Given the description of an element on the screen output the (x, y) to click on. 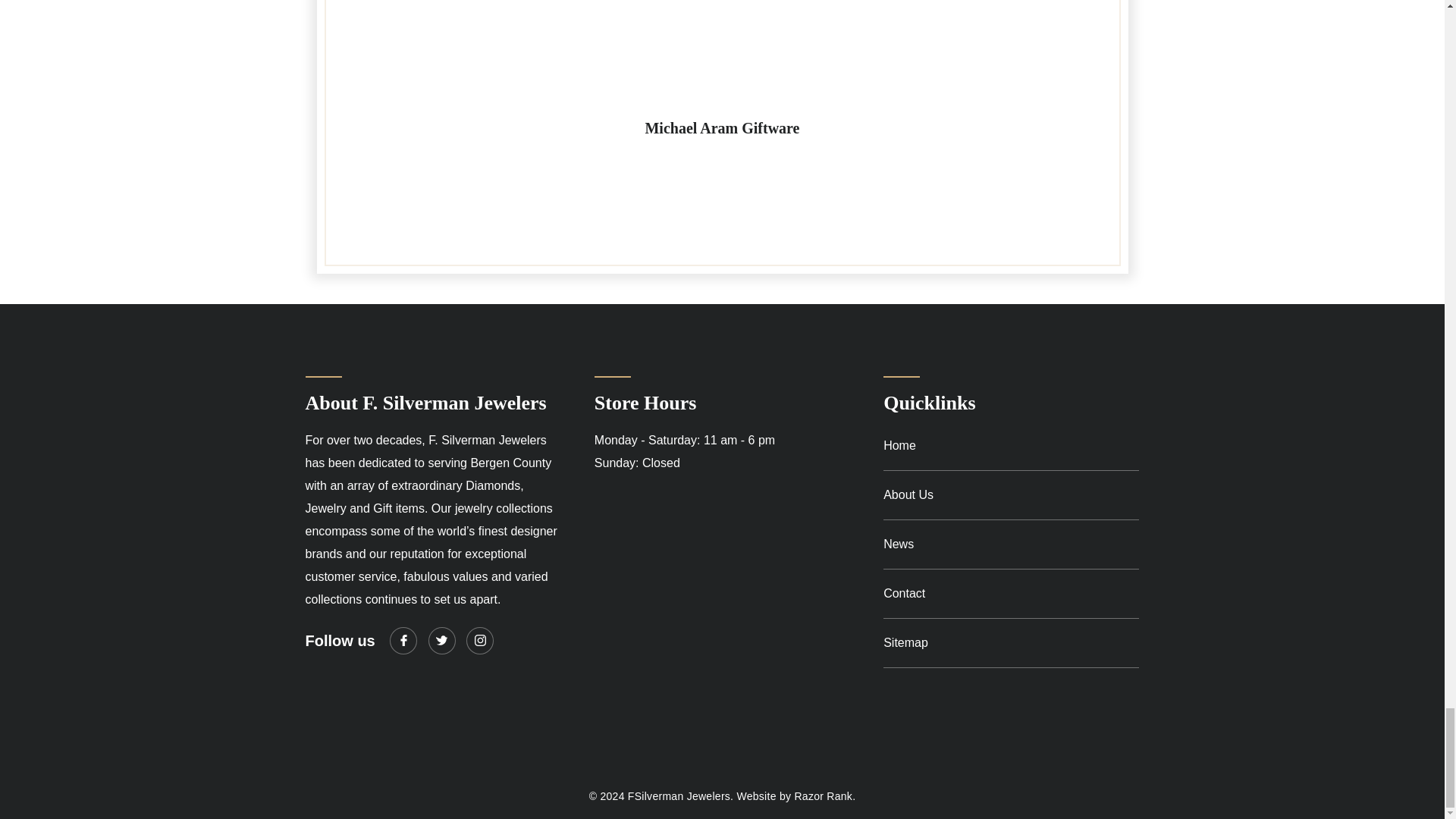
Instagram (479, 640)
Twitter (441, 640)
Facebook (403, 640)
